Given the description of an element on the screen output the (x, y) to click on. 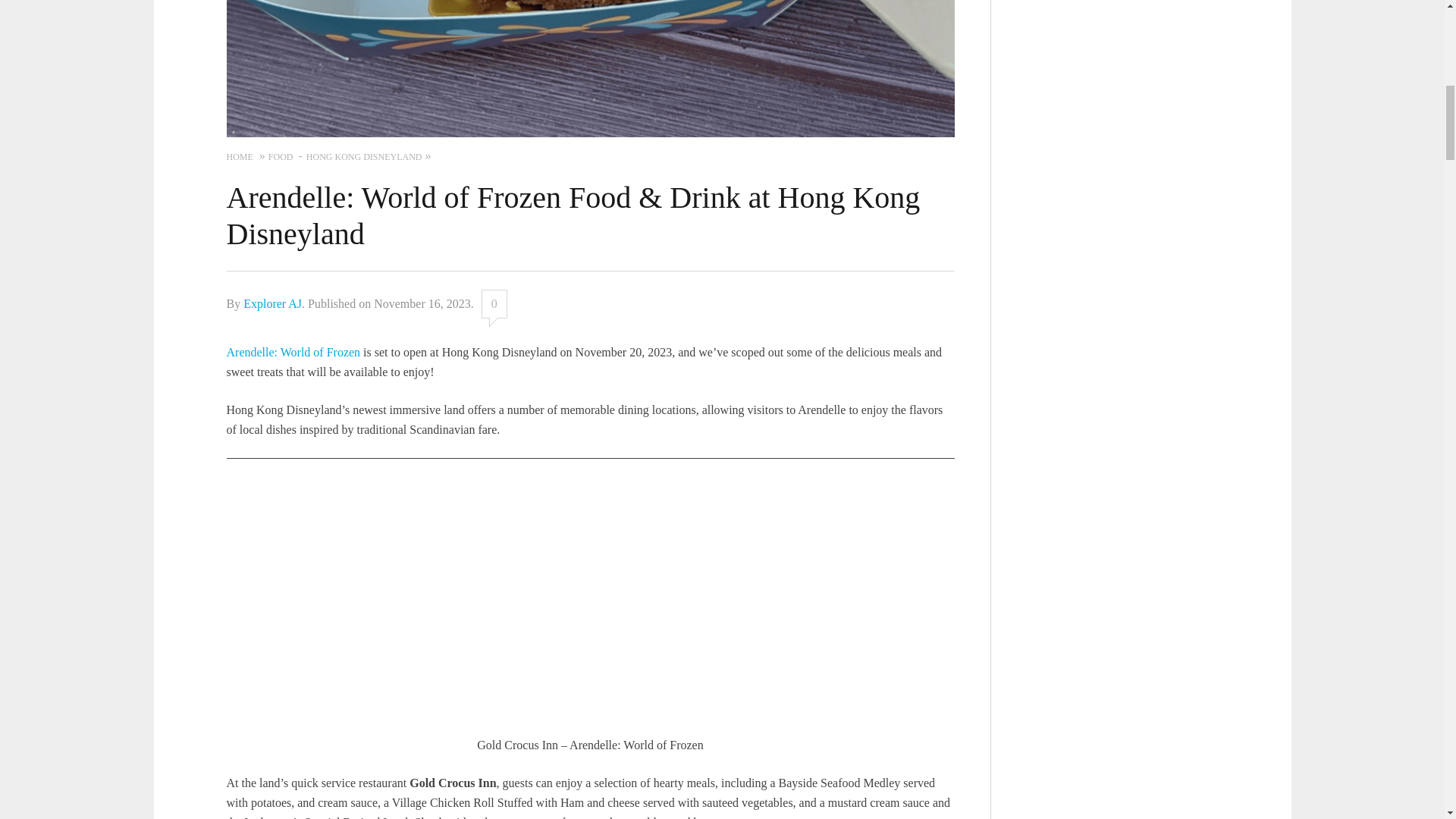
HONG KONG DISNEYLAND (363, 157)
Posts by Explorer AJ (272, 303)
HOME (238, 157)
FOOD (280, 157)
View all posts filed under Food (280, 157)
Arendelle: World of Frozen (292, 351)
View all posts filed under Hong Kong Disneyland (363, 157)
Explorer AJ (272, 303)
0 (493, 303)
